Given the description of an element on the screen output the (x, y) to click on. 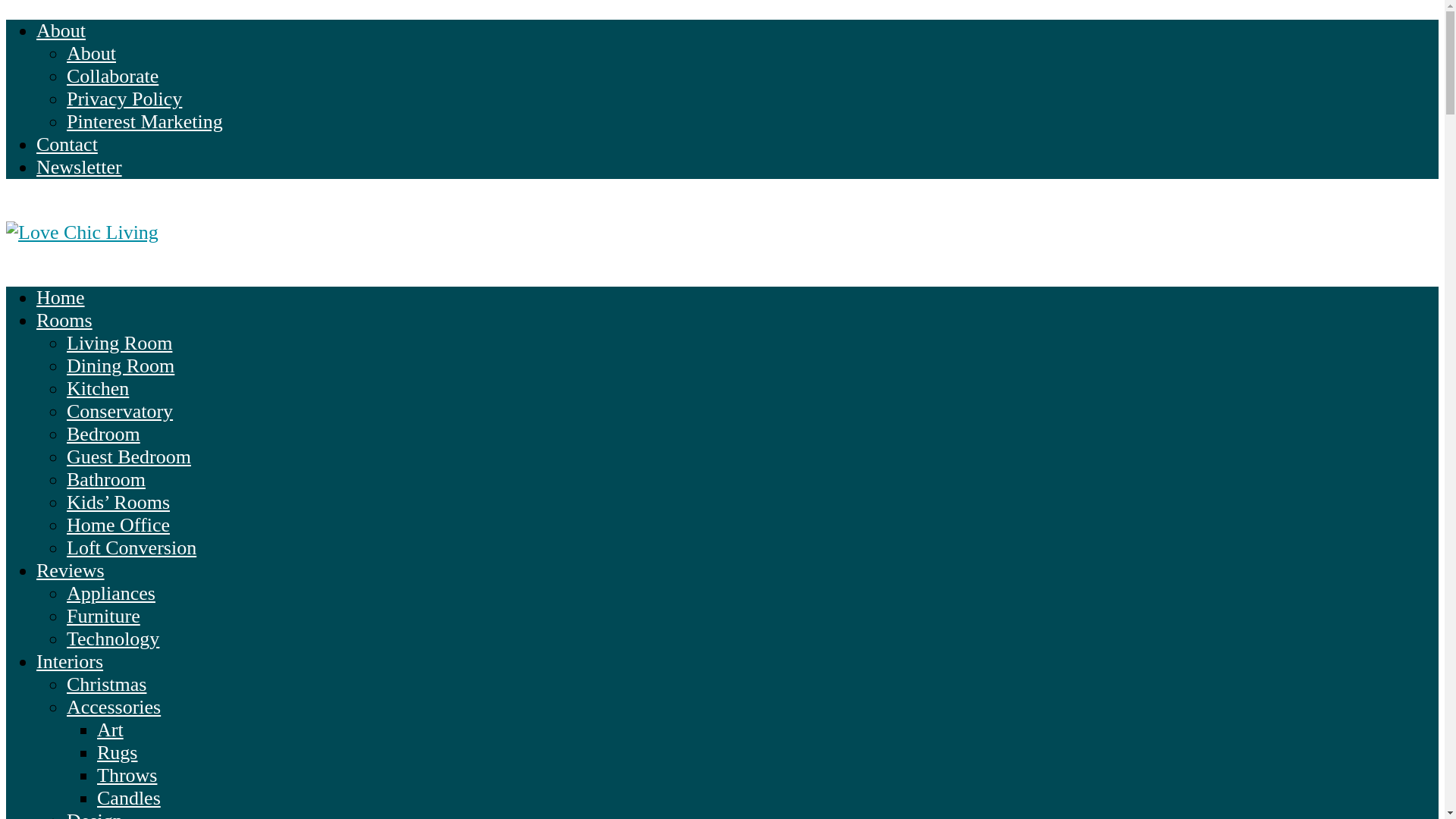
Interiors (69, 661)
Design (94, 814)
Appliances (110, 593)
About (60, 30)
Home (60, 297)
About (91, 53)
Christmas (106, 684)
Pinterest Marketing (144, 121)
Newsletter (79, 167)
Rugs (116, 752)
